Given the description of an element on the screen output the (x, y) to click on. 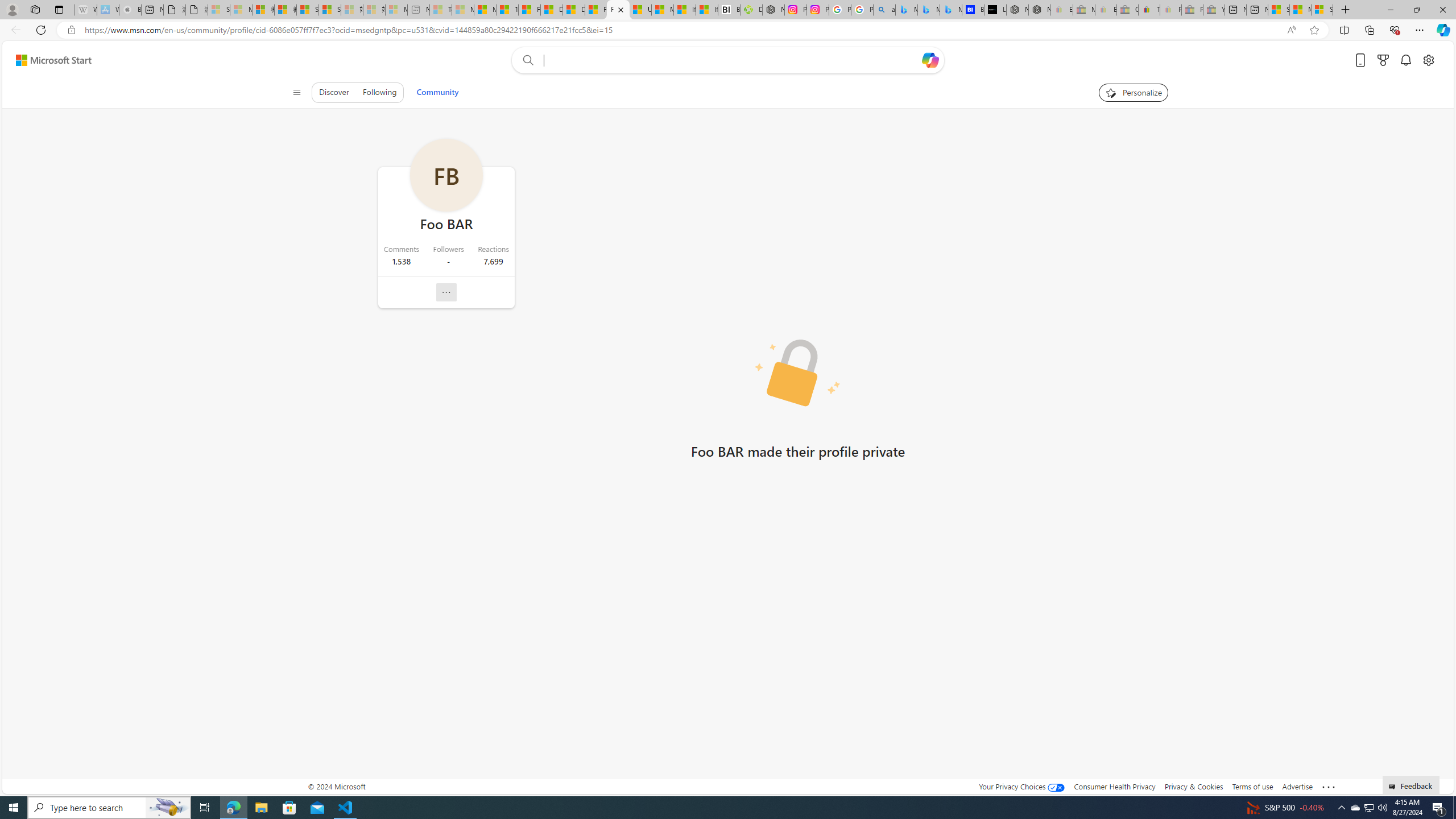
Class: feedback_link_icon-DS-EntryPoint1-1 (1393, 786)
Threats and offensive language policy | eBay (1149, 9)
Class: control icon-only (296, 92)
Terms of use (1252, 785)
